Given the description of an element on the screen output the (x, y) to click on. 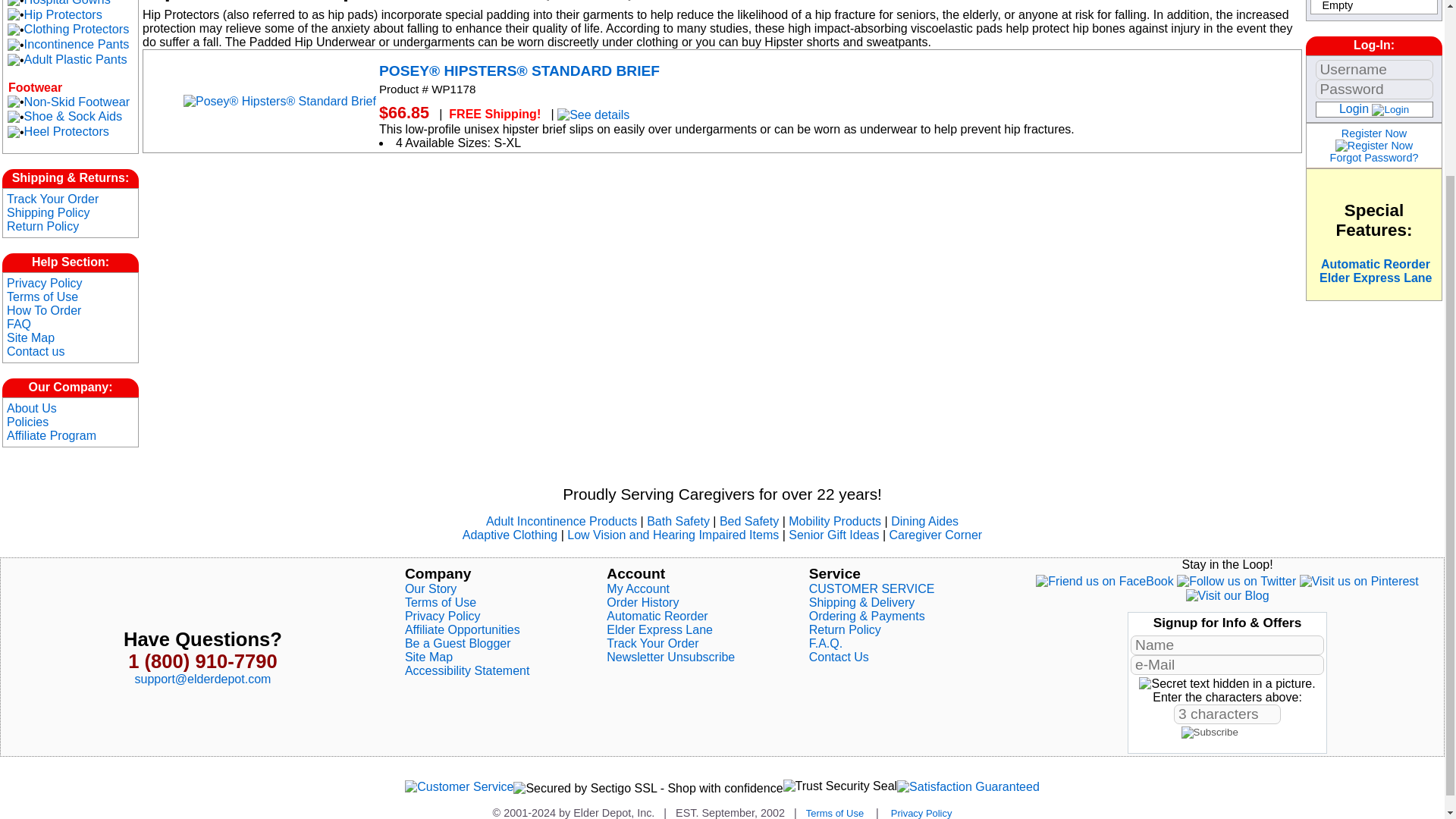
Non-Skid Footwear (77, 101)
Privacy Policy (44, 282)
Track Your Order (53, 198)
Adult Plastic Pants (76, 59)
Login (1353, 108)
Clothing Protectors (76, 29)
Contact us (35, 350)
Login (1390, 110)
How To Order (44, 309)
Affiliate Program (51, 435)
About Us (31, 408)
Policies (27, 421)
Incontinence Pants (76, 43)
Hospital Gowns (67, 2)
Heel Protectors (66, 131)
